Given the description of an element on the screen output the (x, y) to click on. 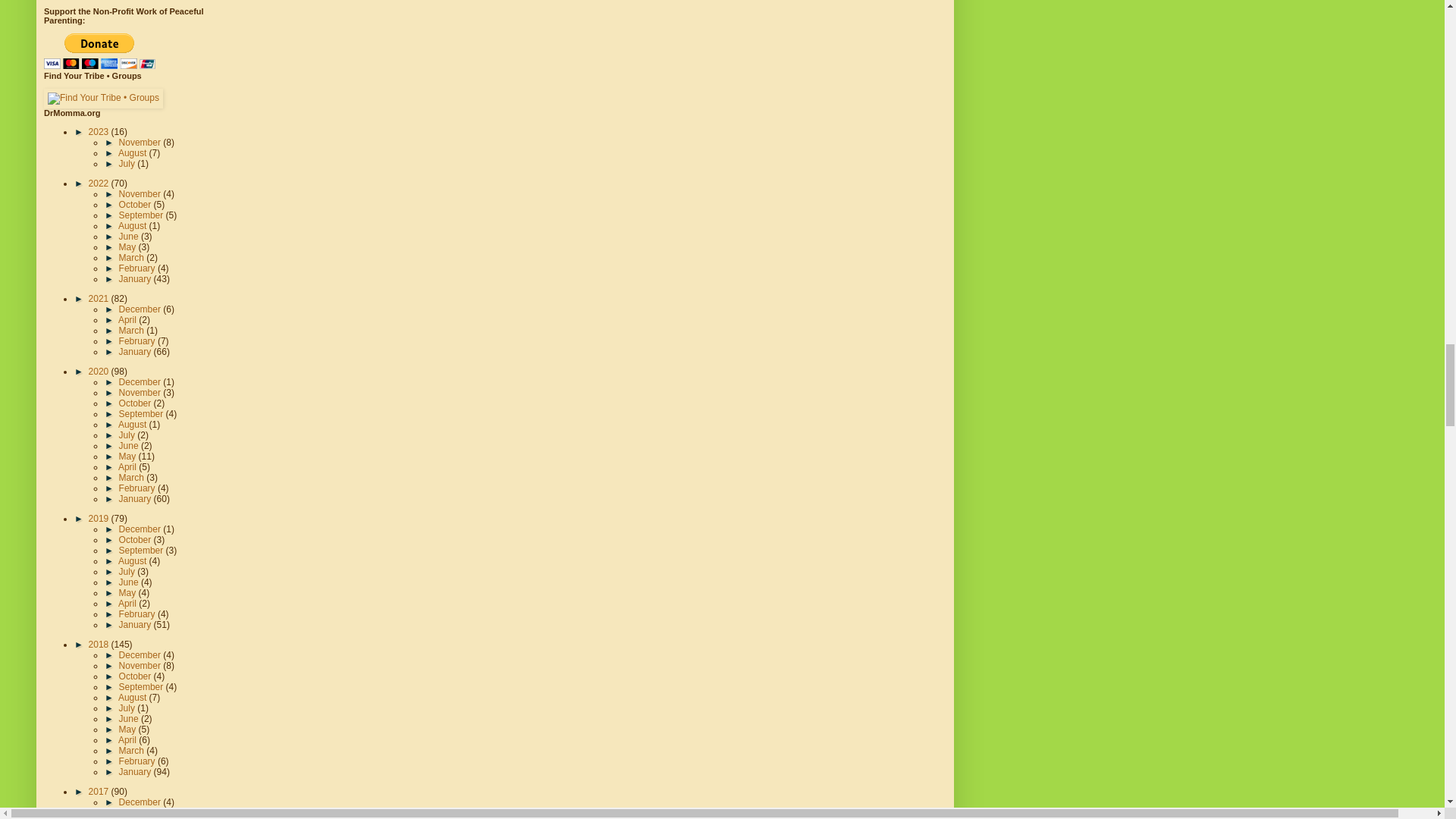
PayPal - The safer, easier way to pay online! (99, 50)
